Given the description of an element on the screen output the (x, y) to click on. 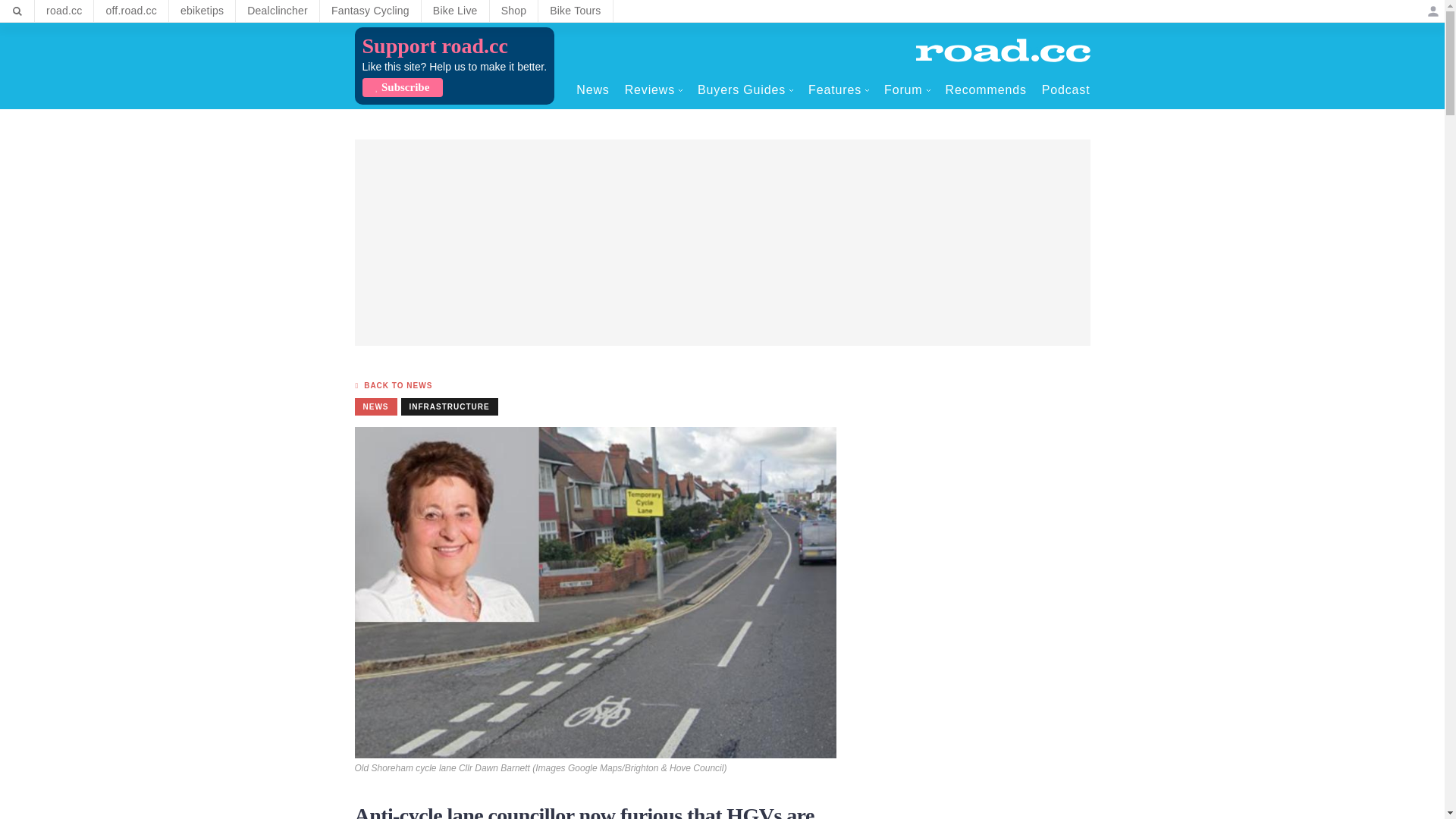
Bike Live (455, 11)
Subscribe (402, 87)
off.road.cc (131, 11)
Fantasy Cycling (370, 11)
Home (1002, 50)
road.cc (63, 11)
ebiketips (201, 11)
Reviews (653, 89)
Bike Tours (574, 11)
Dealclincher (276, 11)
Shop (513, 11)
